Given the description of an element on the screen output the (x, y) to click on. 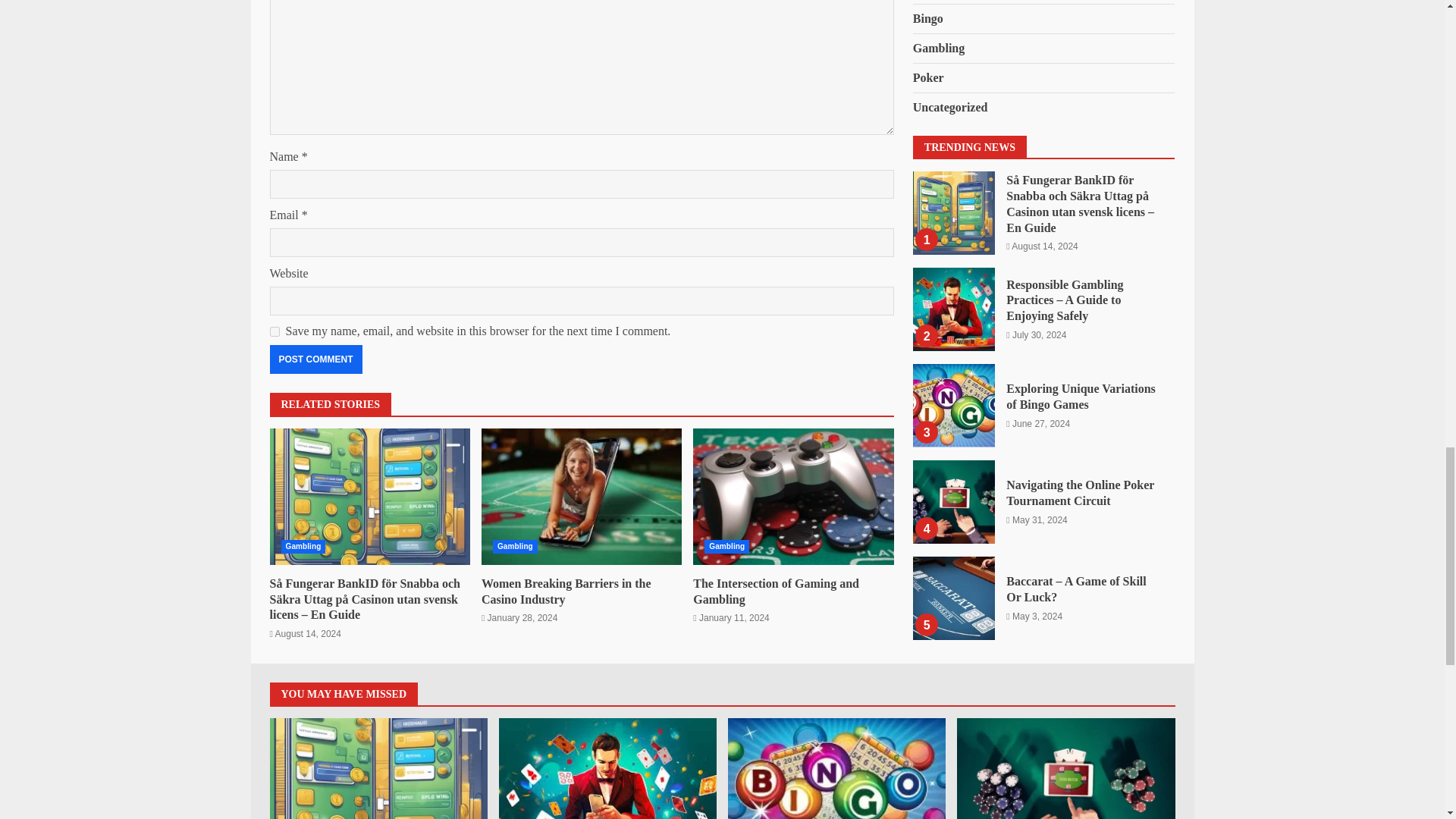
Post Comment (315, 358)
The Intersection of Gaming and Gambling (776, 591)
yes (274, 331)
Gambling (726, 546)
Women Breaking Barriers in the Casino Industry (581, 496)
Gambling (302, 546)
Post Comment (315, 358)
The Intersection of Gaming and Gambling (793, 496)
Women Breaking Barriers in the Casino Industry (565, 591)
Gambling (515, 546)
